Given the description of an element on the screen output the (x, y) to click on. 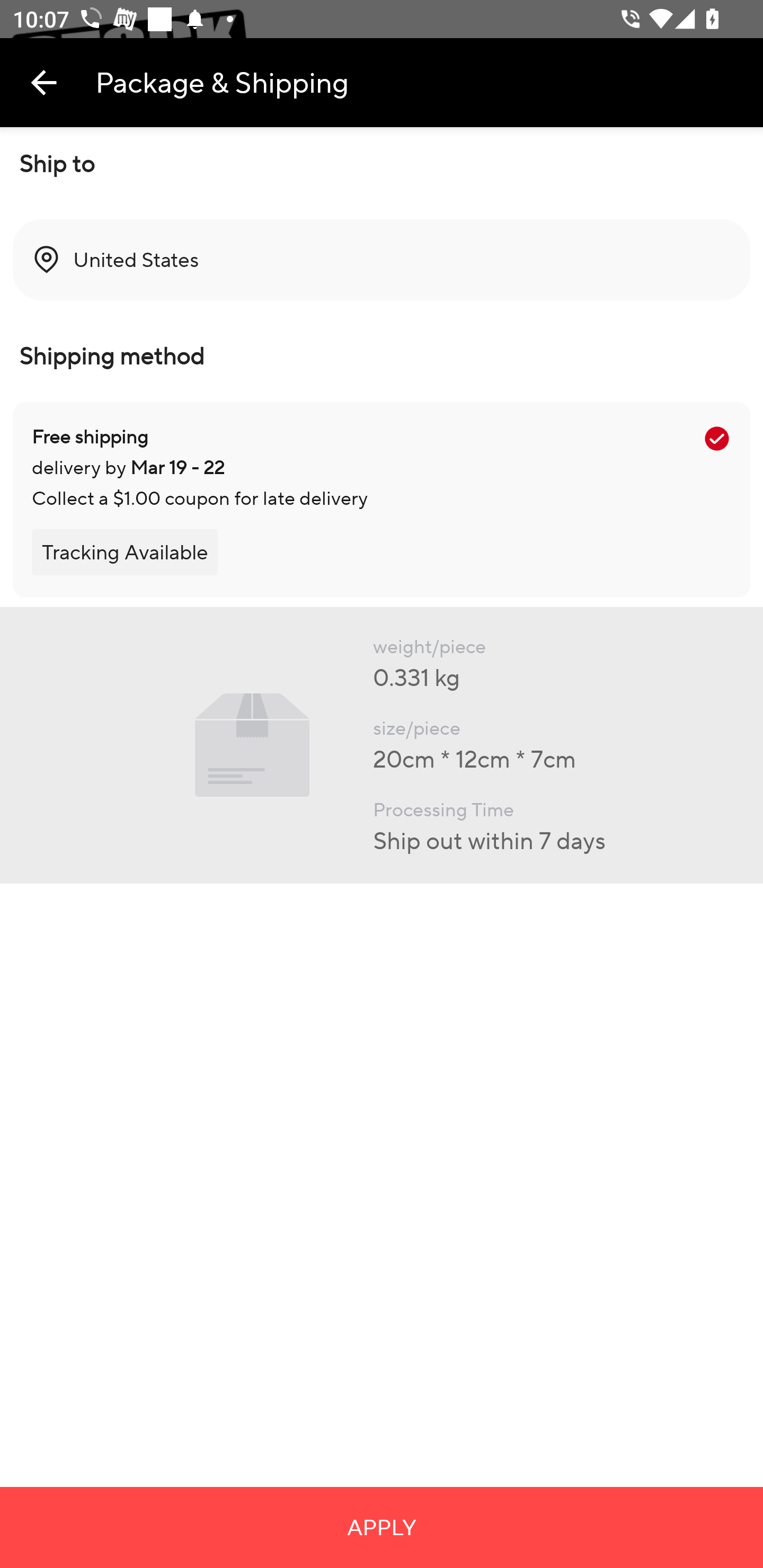
 United States (381, 260)
APPLY (381, 1527)
